Given the description of an element on the screen output the (x, y) to click on. 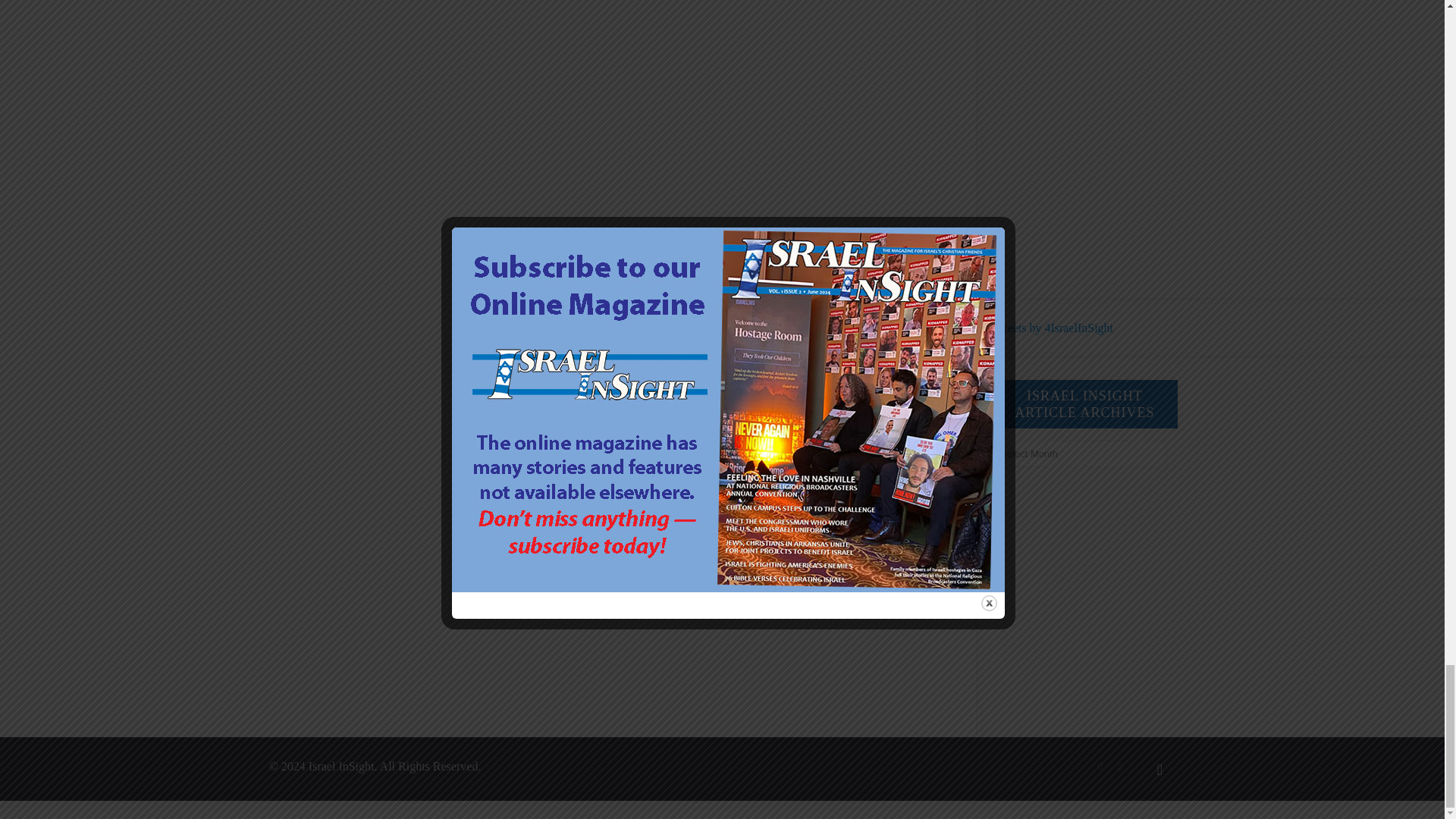
Facebook (1100, 766)
Twitter (1120, 766)
